Given the description of an element on the screen output the (x, y) to click on. 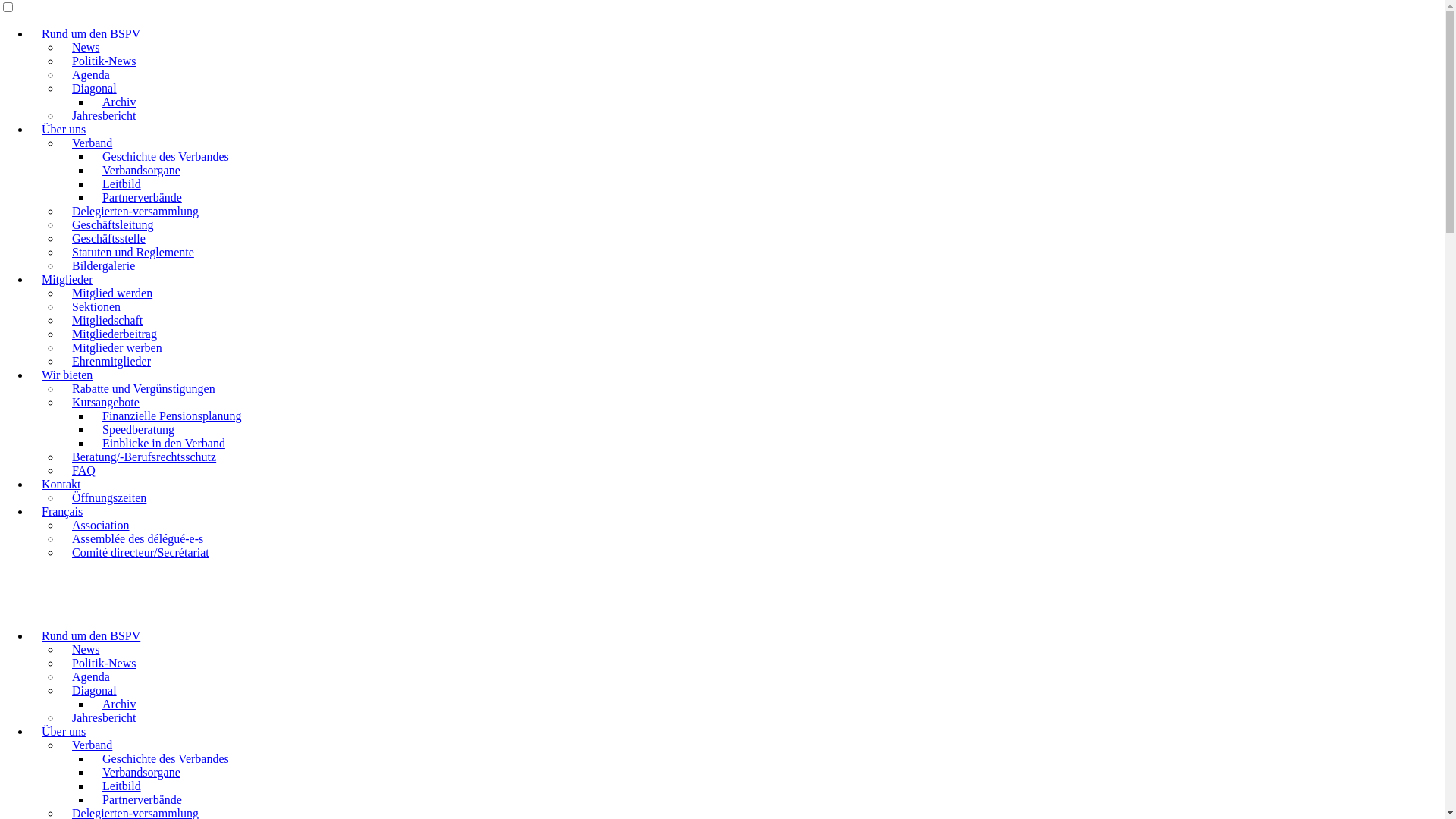
Sektionen Element type: text (95, 306)
Mitgliederbeitrag Element type: text (114, 334)
Diagonal Element type: text (94, 88)
Mitglieder Element type: text (67, 279)
Jahresbericht Element type: text (103, 115)
Leitbild Element type: text (121, 785)
Agenda Element type: text (90, 74)
Kursangebote Element type: text (105, 402)
FAQ Element type: text (83, 470)
Verbandsorgane Element type: text (141, 772)
Verbandsorgane Element type: text (141, 170)
Agenda Element type: text (90, 676)
Rund um den BSPV Element type: text (90, 635)
News Element type: text (85, 47)
Speedberatung Element type: text (138, 429)
Mitgliedschaft Element type: text (106, 320)
Leitbild Element type: text (121, 183)
Diagonal Element type: text (94, 690)
Association Element type: text (100, 525)
Verband Element type: text (91, 142)
Statuten und Reglemente Element type: text (132, 252)
Kontakt Element type: text (61, 484)
Bildergalerie Element type: text (103, 265)
Wir bieten Element type: text (66, 374)
Beratung/-Berufsrechtsschutz Element type: text (143, 456)
Geschichte des Verbandes Element type: text (165, 758)
Ehrenmitglieder Element type: text (111, 361)
Finanzielle Pensionsplanung Element type: text (172, 415)
Delegierten-versammlung Element type: text (135, 211)
Geschichte des Verbandes Element type: text (165, 156)
Politik-News Element type: text (103, 663)
Mitglieder werben Element type: text (116, 347)
Mitglied werden Element type: text (111, 293)
Rund um den BSPV Element type: text (90, 33)
Archiv Element type: text (119, 704)
News Element type: text (85, 649)
Einblicke in den Verband Element type: text (163, 443)
Politik-News Element type: text (103, 61)
Jahresbericht Element type: text (103, 717)
Archiv Element type: text (119, 101)
Verband Element type: text (91, 745)
